Given the description of an element on the screen output the (x, y) to click on. 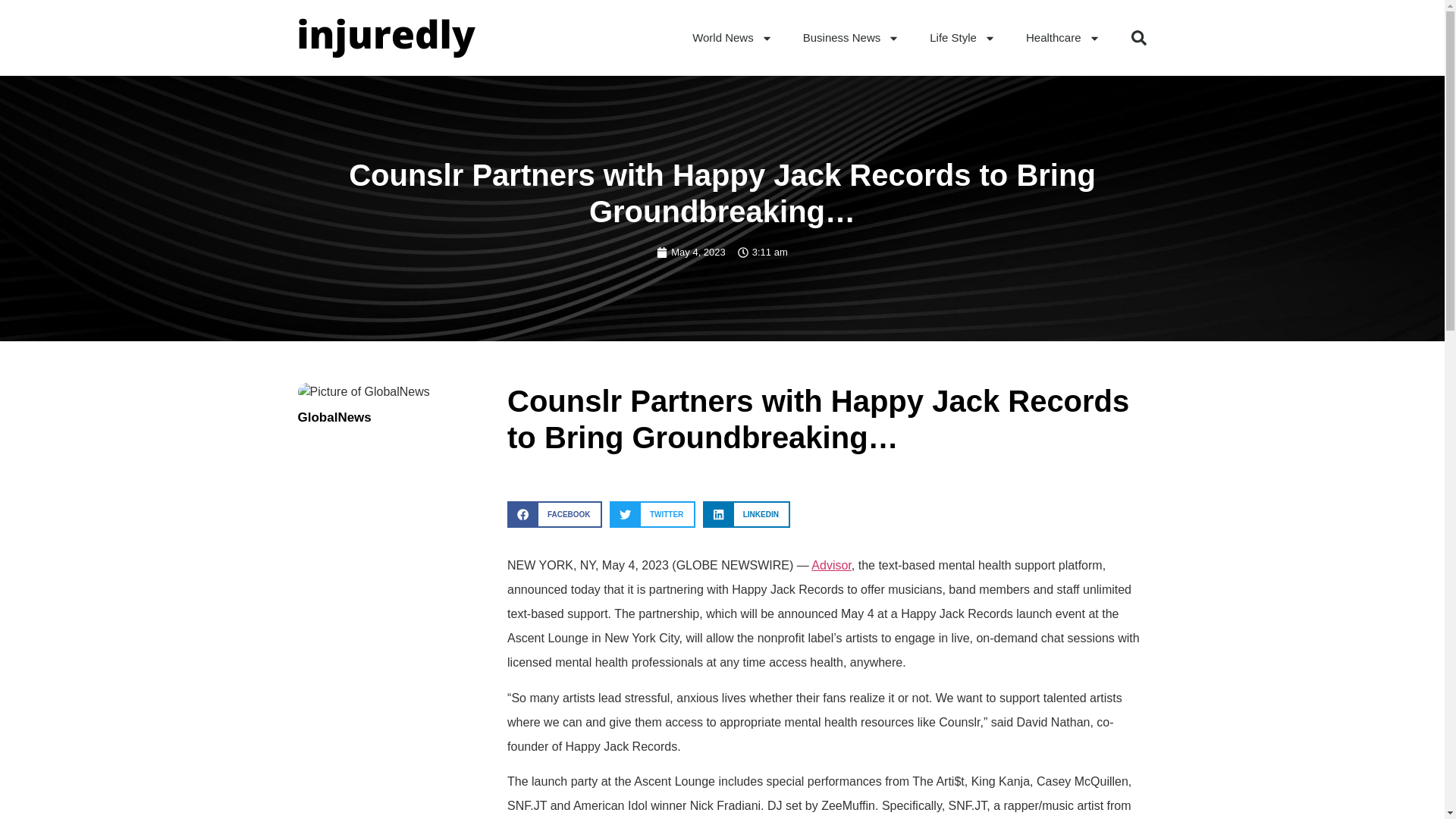
Life Style (962, 38)
Healthcare (1062, 38)
World News (732, 38)
Business News (851, 38)
